Given the description of an element on the screen output the (x, y) to click on. 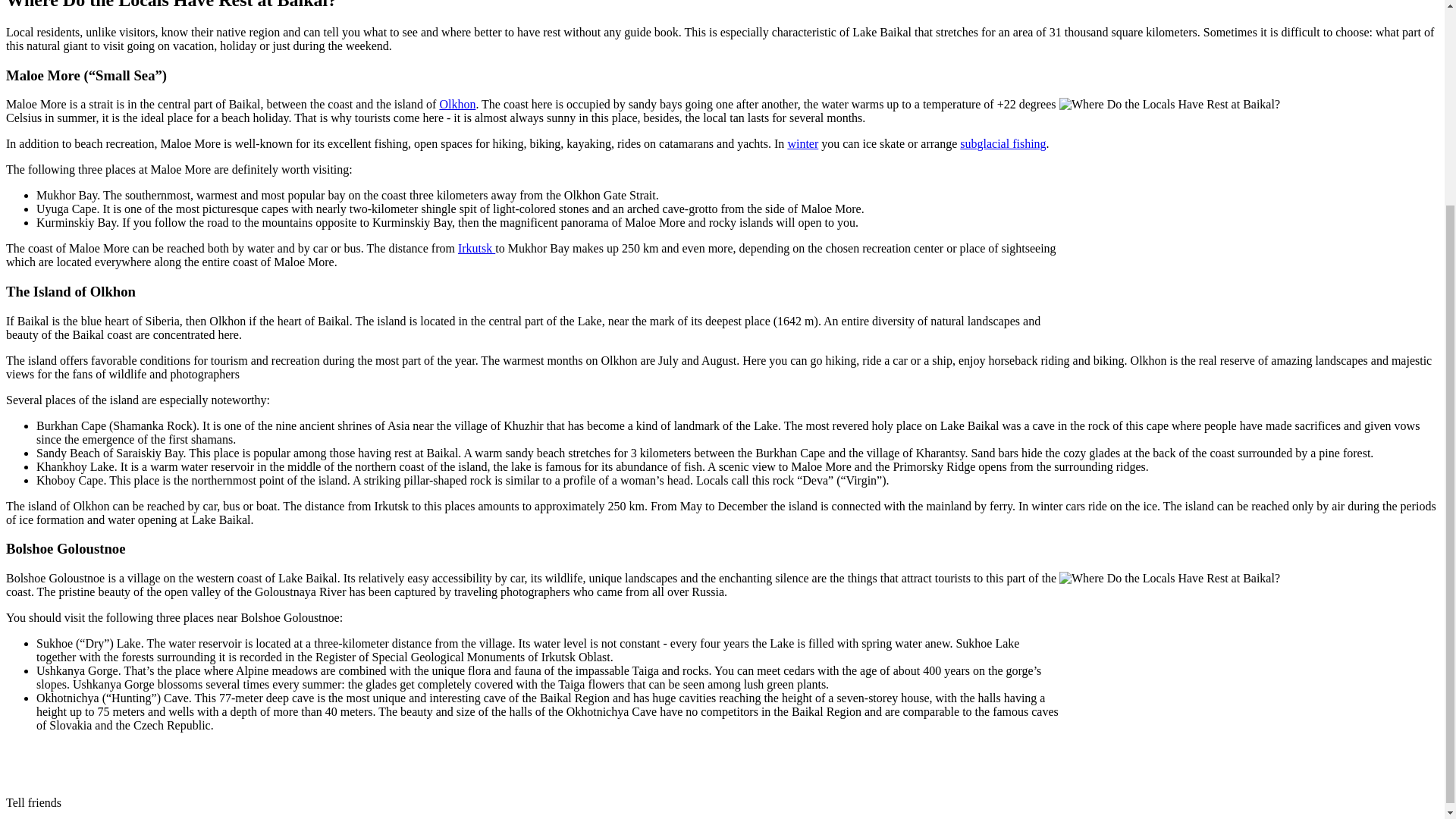
Olkhon (457, 103)
winter (802, 143)
subglacial fishing (1002, 143)
Irkutsk (476, 247)
